Given the description of an element on the screen output the (x, y) to click on. 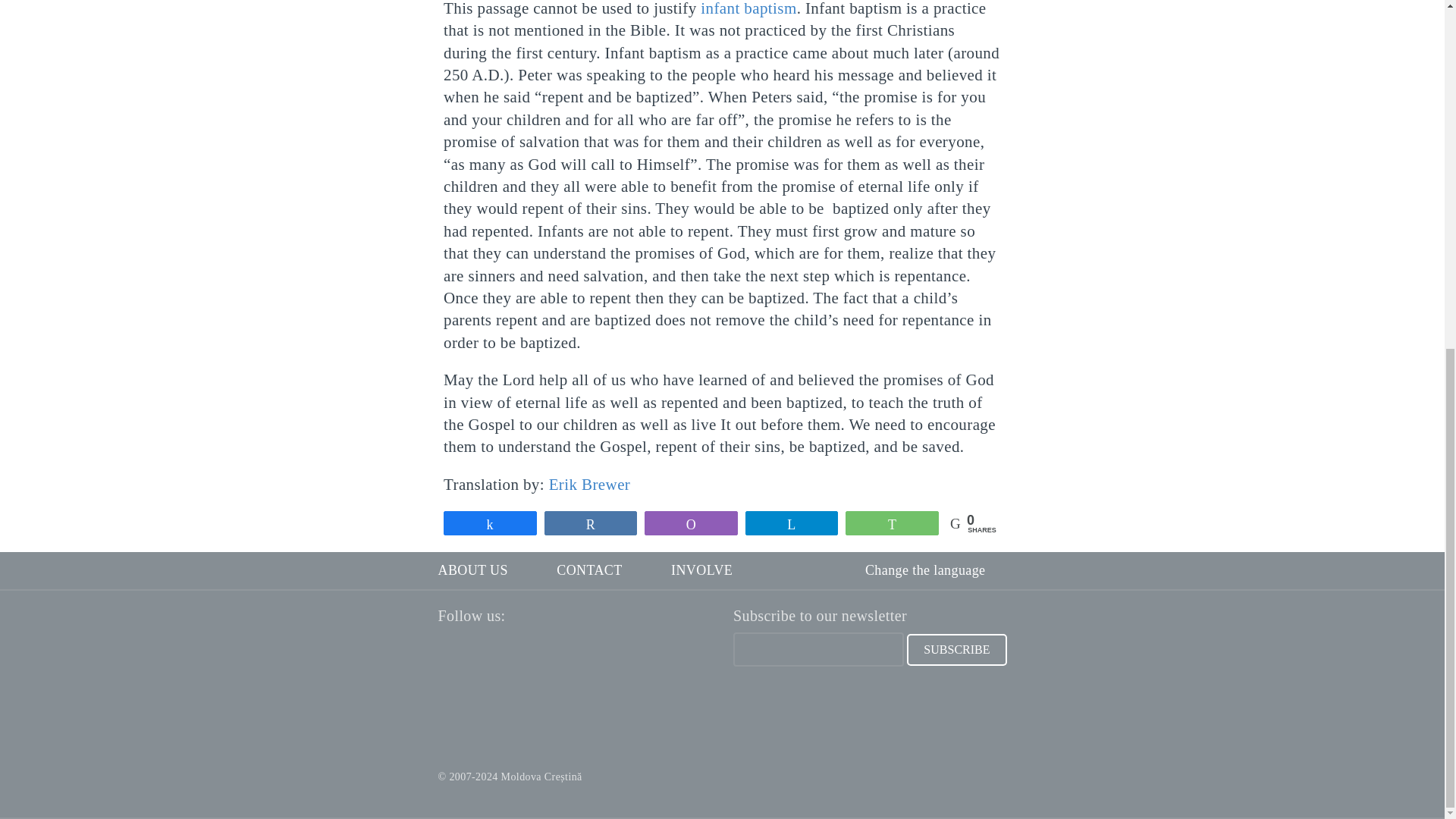
infant baptism (748, 8)
Subscribe (956, 649)
ABOUT US (473, 570)
INVOLVE (701, 570)
Erik Brewer (589, 484)
CONTACT (588, 570)
